Given the description of an element on the screen output the (x, y) to click on. 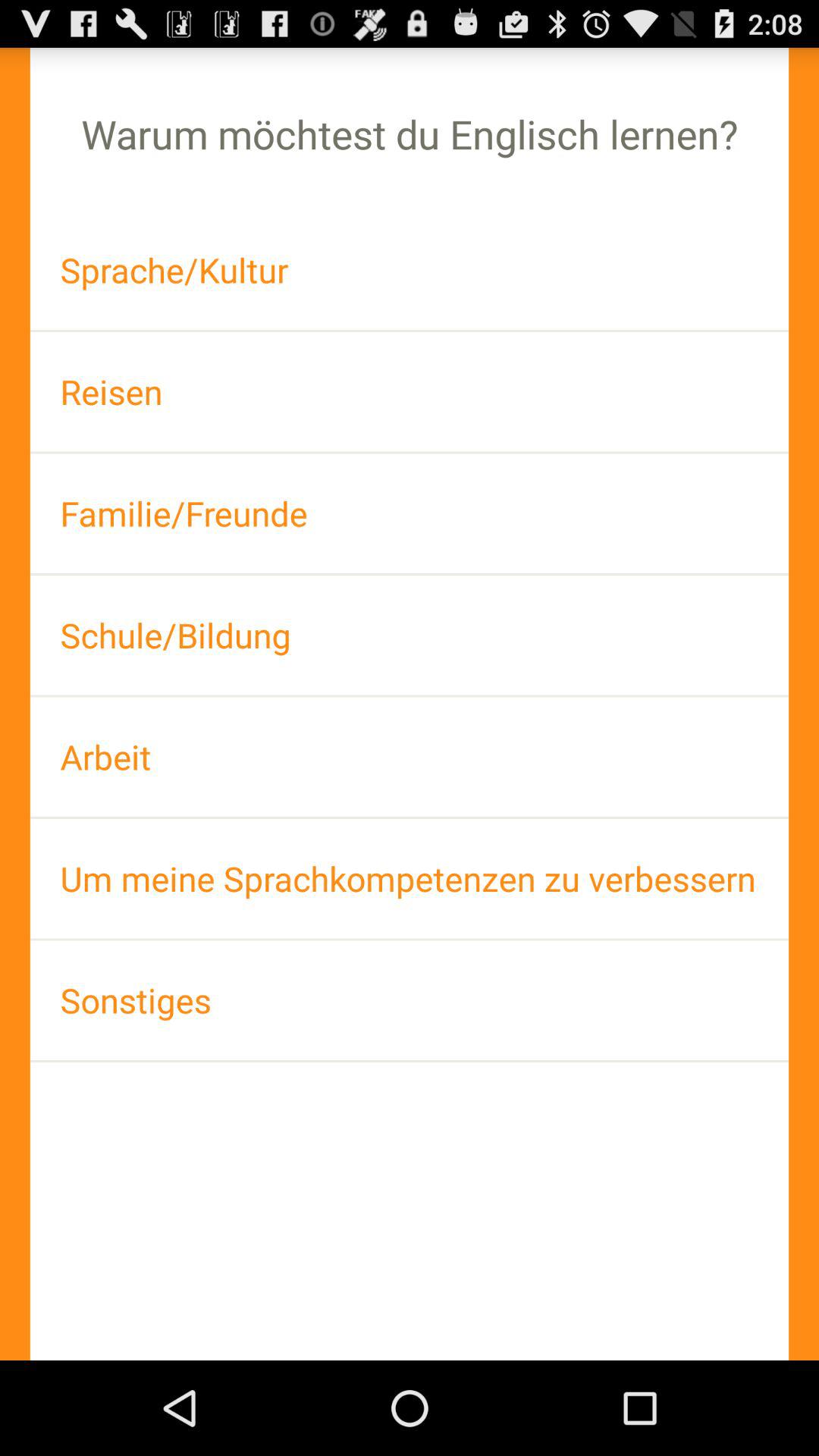
scroll to reisen icon (409, 391)
